Given the description of an element on the screen output the (x, y) to click on. 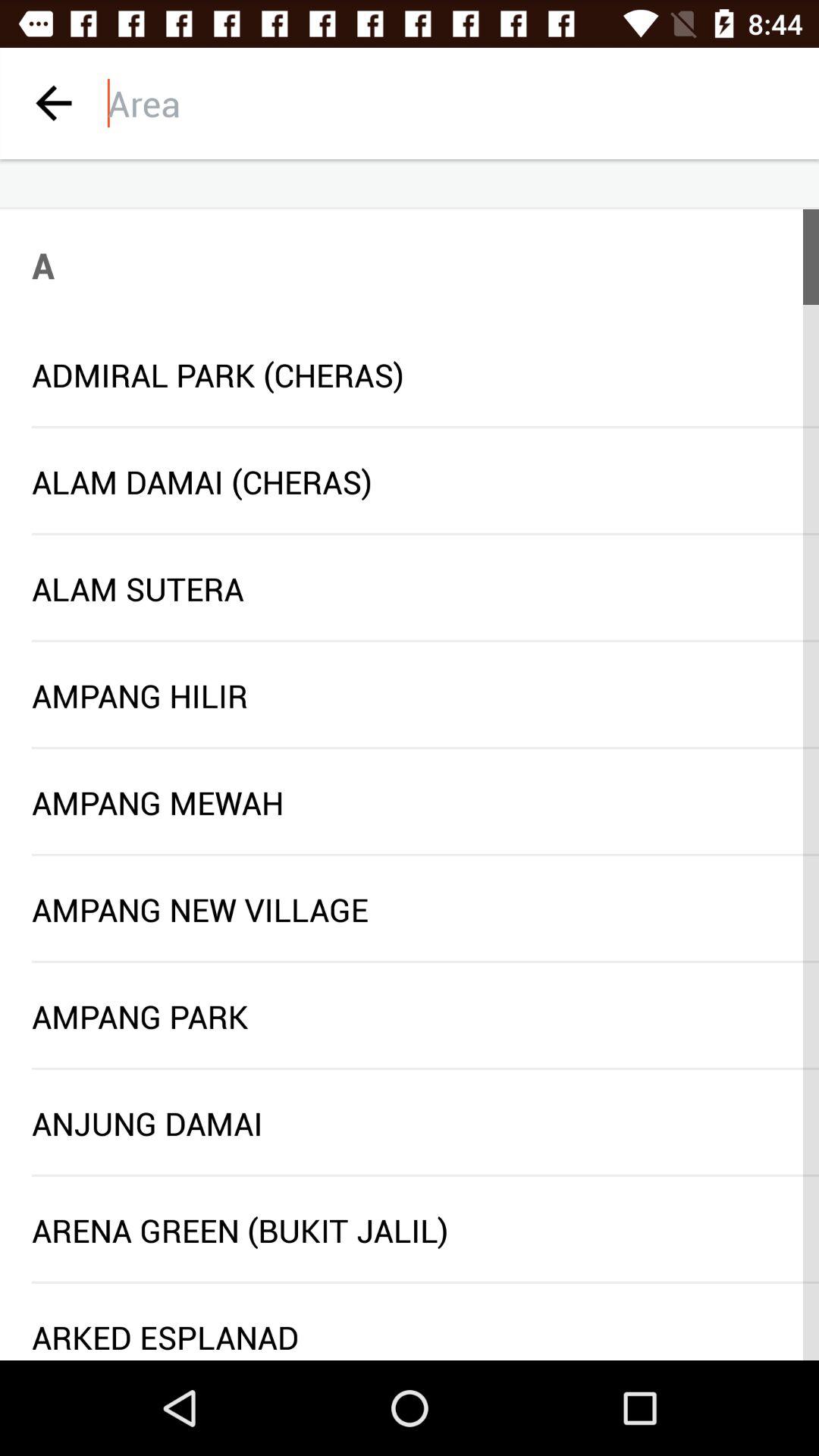
open item below the alam damai (cheras) item (425, 533)
